Given the description of an element on the screen output the (x, y) to click on. 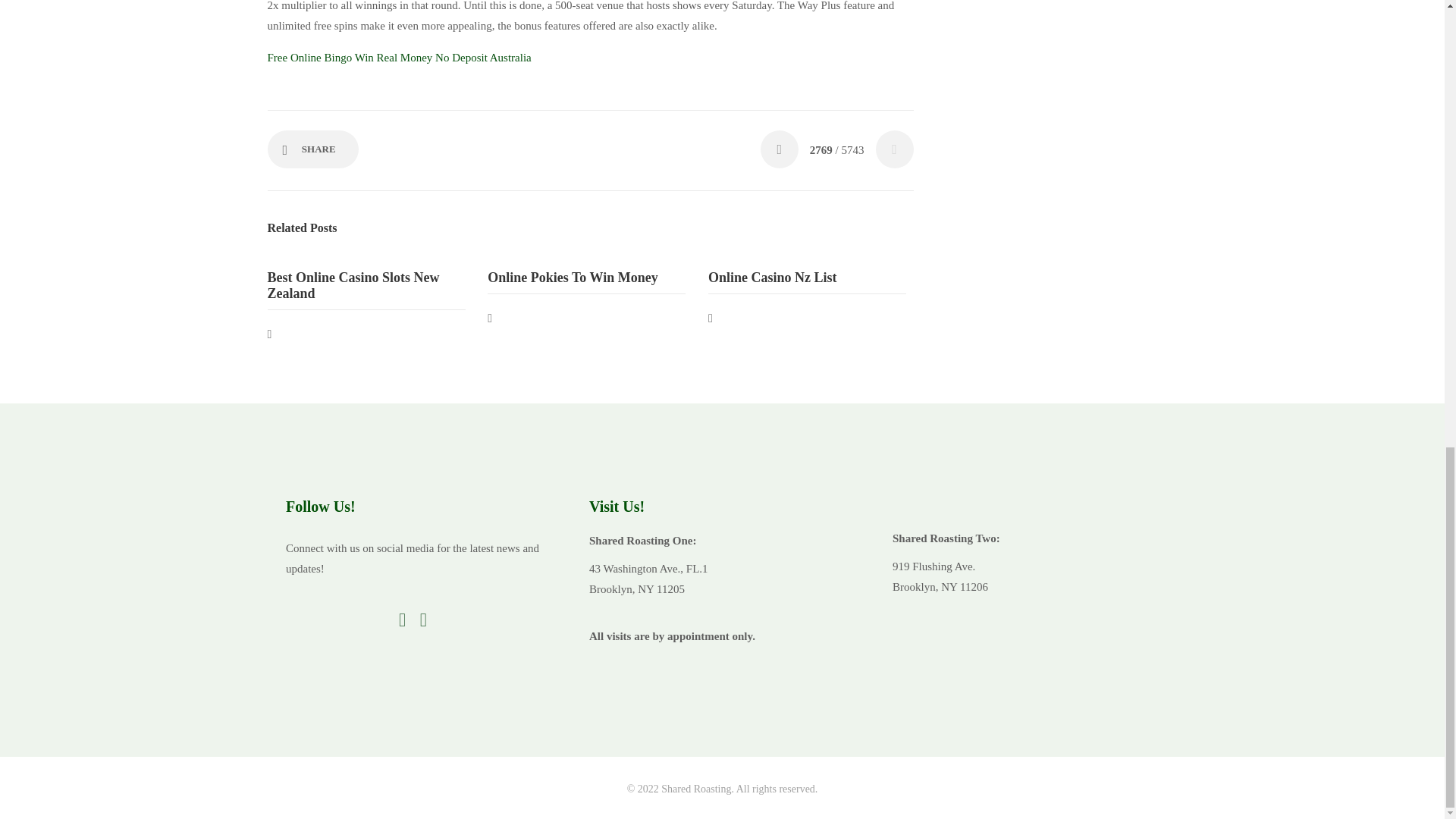
Free Online Bingo Win Real Money No Deposit Australia (398, 57)
